Given the description of an element on the screen output the (x, y) to click on. 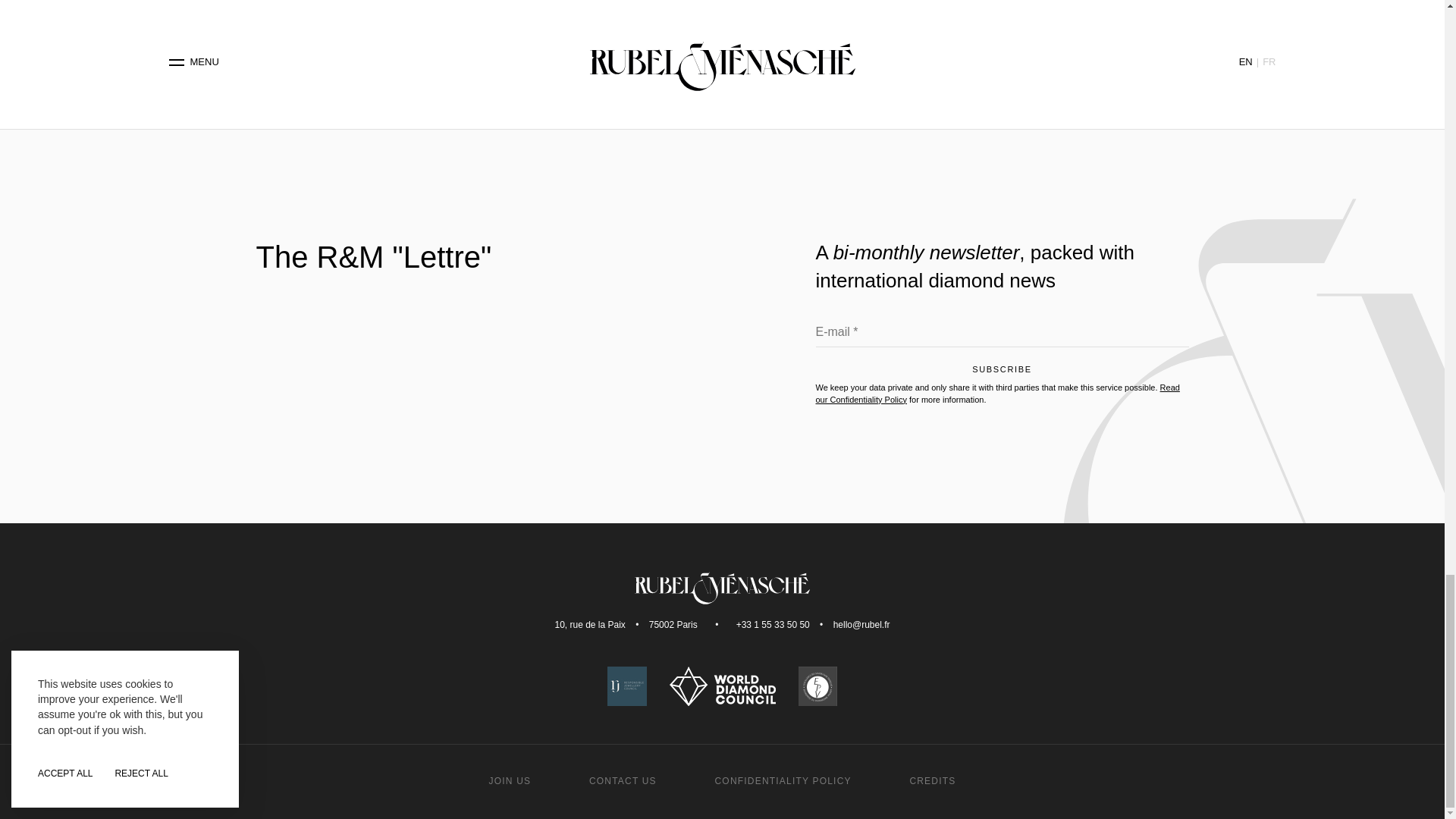
CONTACT US (622, 780)
E-mail (1002, 335)
Subscribe (1002, 373)
Read our Confidentiality Policy (997, 393)
CREDITS (931, 780)
CONFIDENTIALITY POLICY (782, 780)
Subscribe (1002, 373)
JOIN US (509, 780)
